Given the description of an element on the screen output the (x, y) to click on. 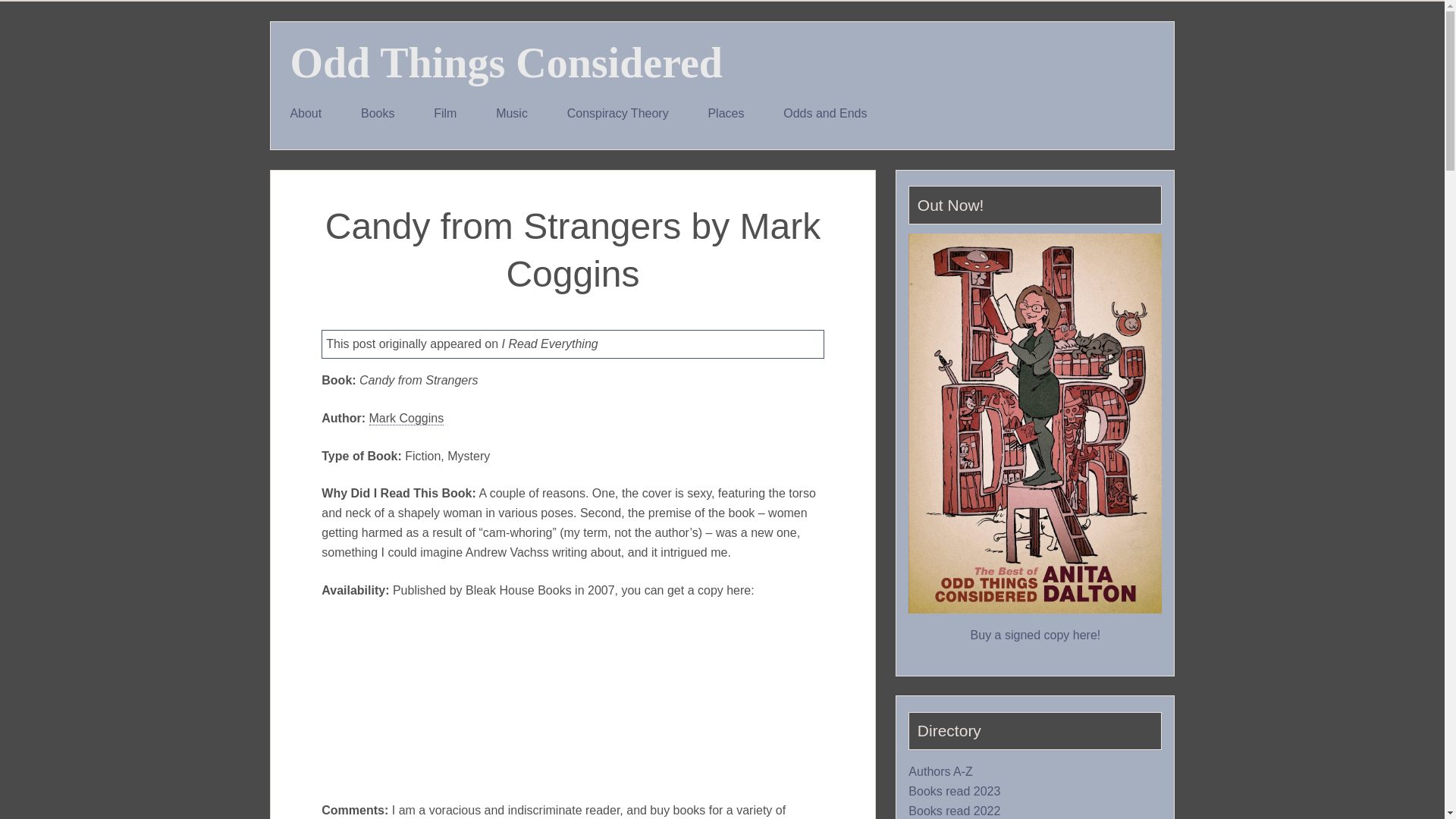
Buy a signed copy here! (1035, 635)
Books (376, 114)
Conspiracy Theory (617, 114)
Film (444, 114)
Authors A-Z (940, 771)
Mark Coggins (406, 418)
About (306, 114)
Books read 2022 (954, 811)
Places (726, 114)
Music (511, 114)
